Given the description of an element on the screen output the (x, y) to click on. 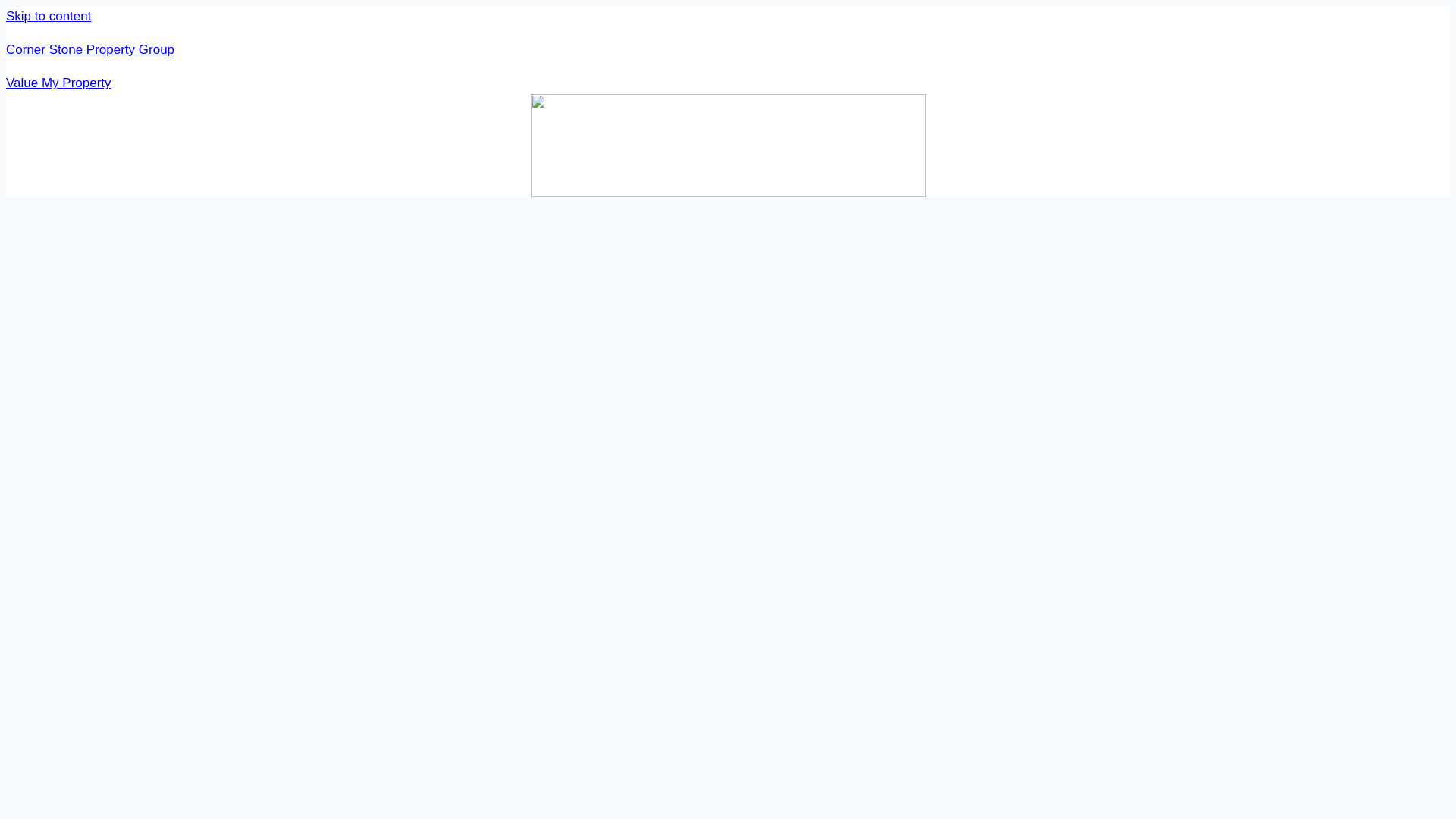
Corner Stone Property Group (89, 49)
Skip to content (47, 16)
Corner Stone Property Group (89, 49)
Skip to content (47, 16)
Value My Property (58, 83)
